Given the description of an element on the screen output the (x, y) to click on. 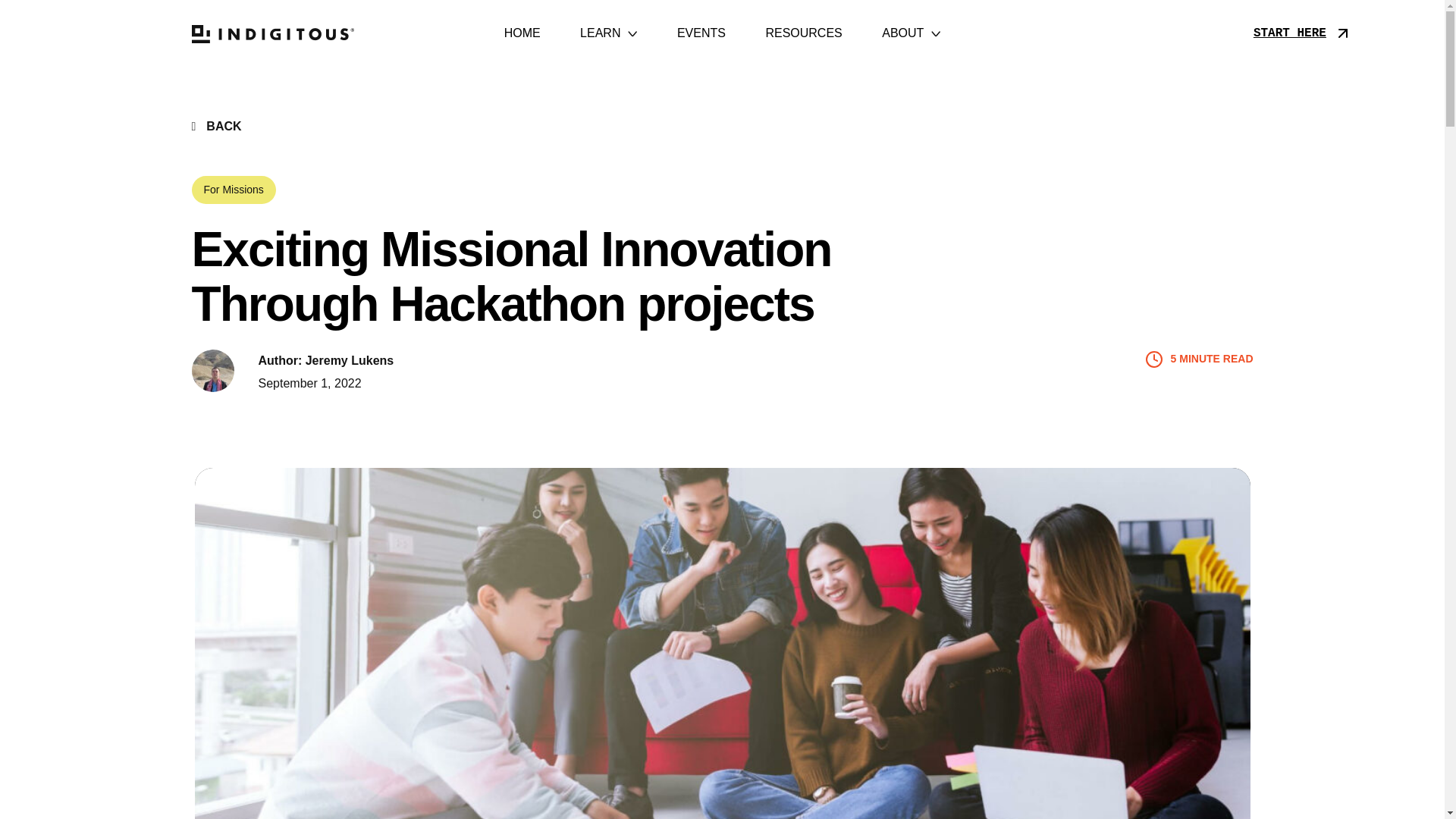
RESOURCES (803, 33)
ABOUT (910, 33)
START HERE (1287, 33)
EVENTS (701, 33)
HOME (522, 33)
LEARN (608, 33)
BACK (223, 126)
Indigitous (289, 33)
